Given the description of an element on the screen output the (x, y) to click on. 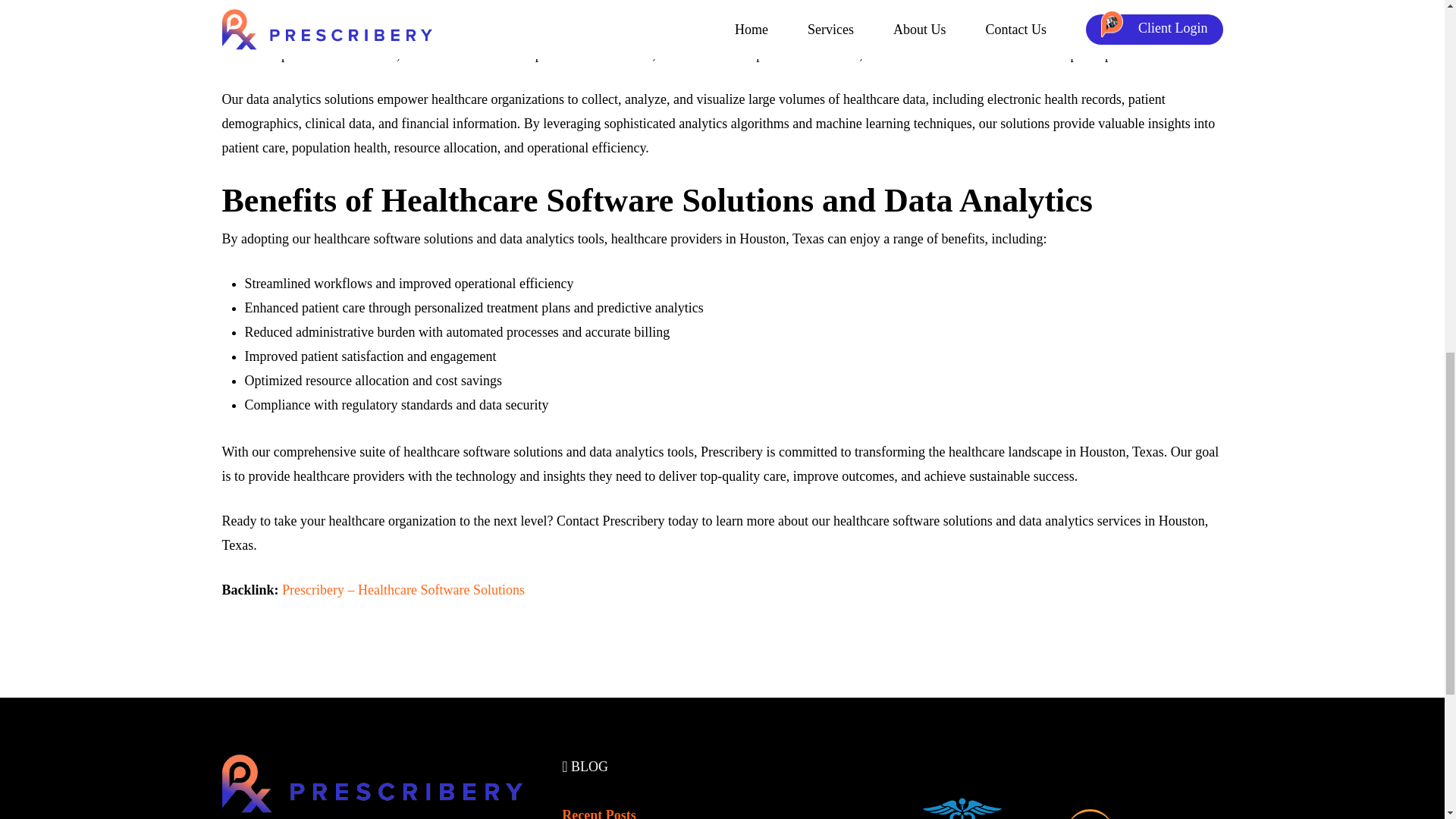
BLOG (585, 766)
